Given the description of an element on the screen output the (x, y) to click on. 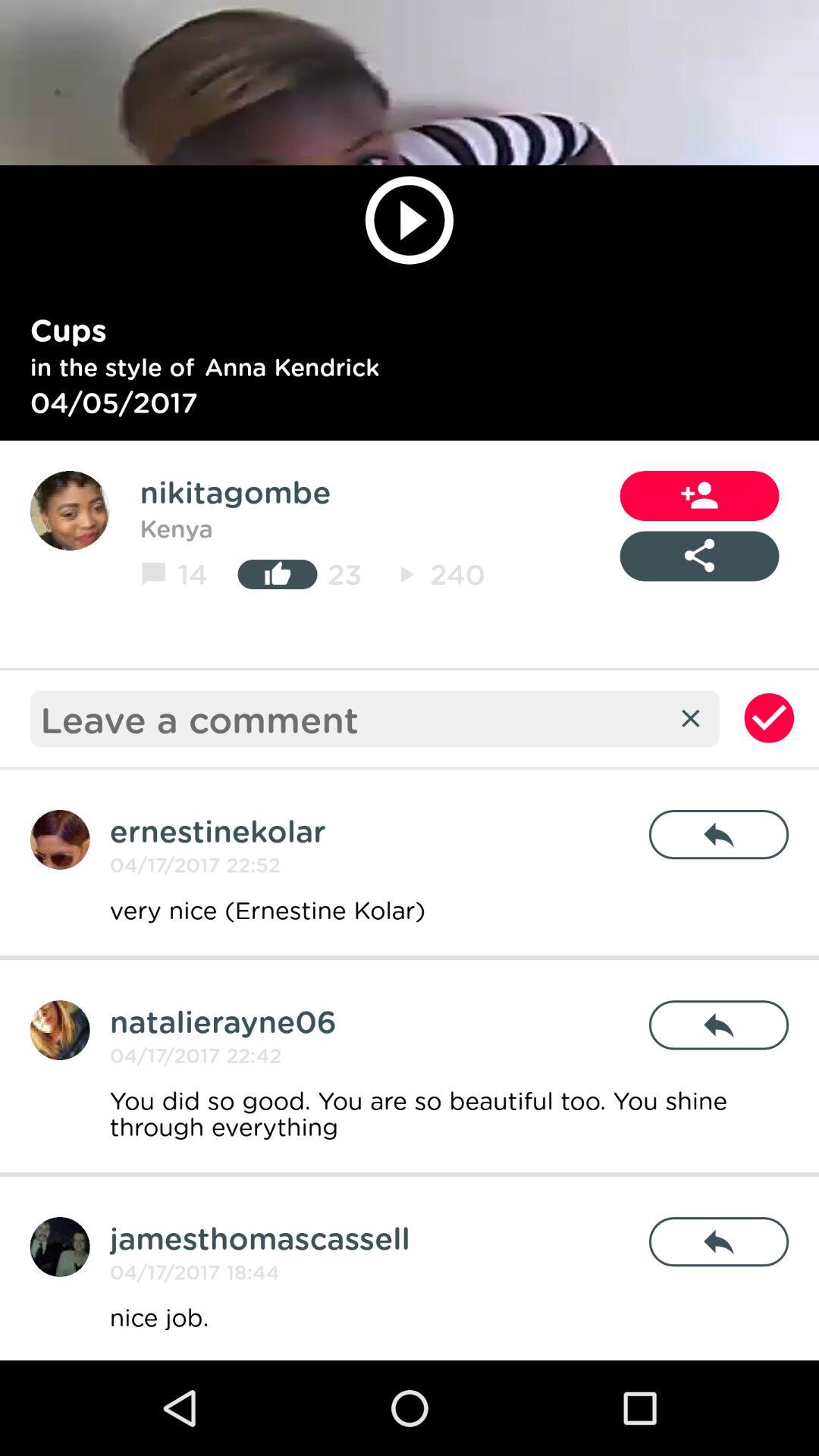
tap to go to profile (59, 1030)
